Given the description of an element on the screen output the (x, y) to click on. 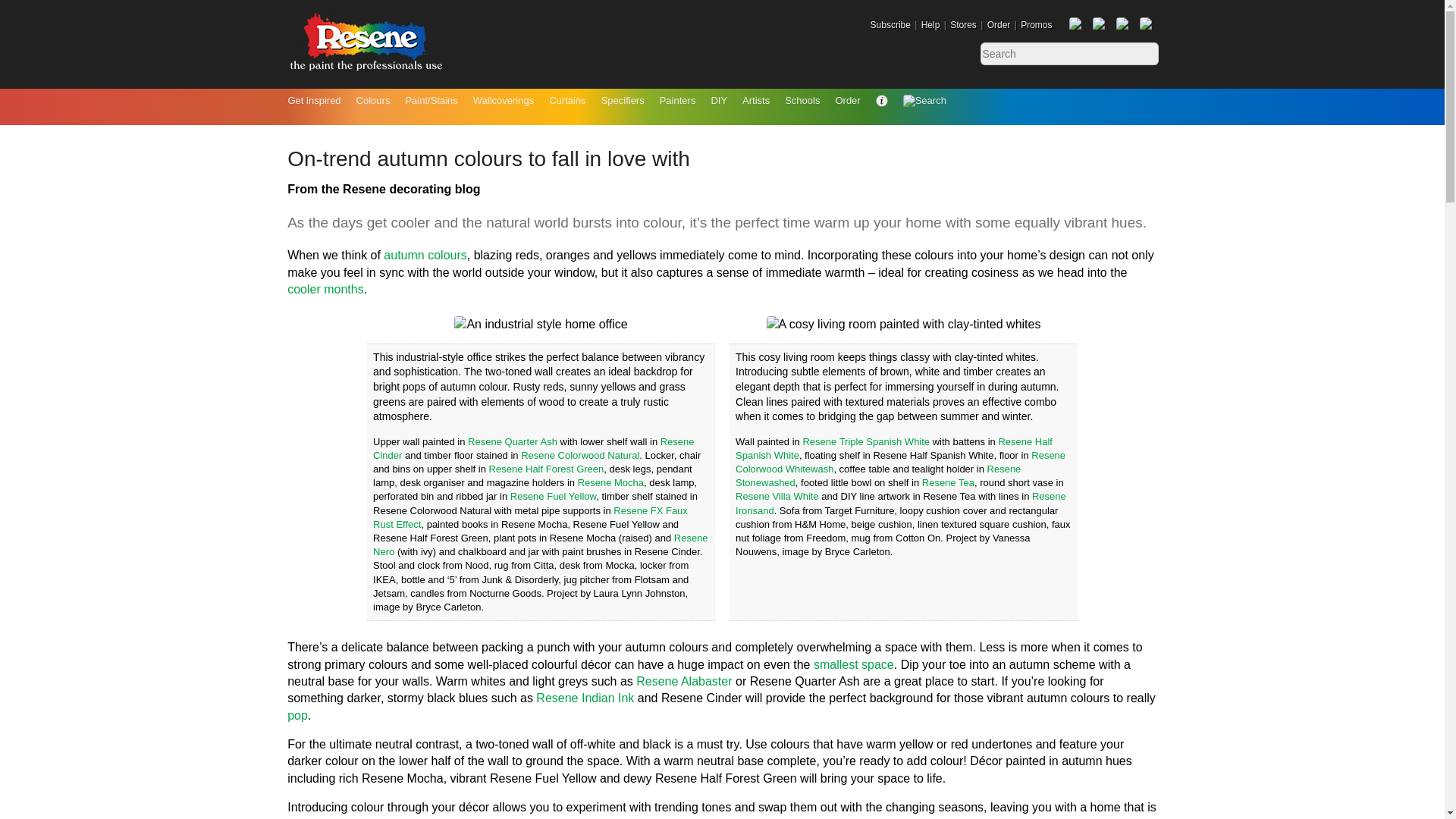
Stores (963, 24)
Subscribe (890, 24)
Follow us on Facebook (1075, 24)
Follow us on YouTube (1145, 24)
Follow us on Instagram (1123, 24)
Winter 2022 colour trends (325, 288)
A dining room with pops of colour (296, 715)
Search (1145, 54)
DIY design tips for small spaces (853, 664)
Promos (1035, 24)
